Given the description of an element on the screen output the (x, y) to click on. 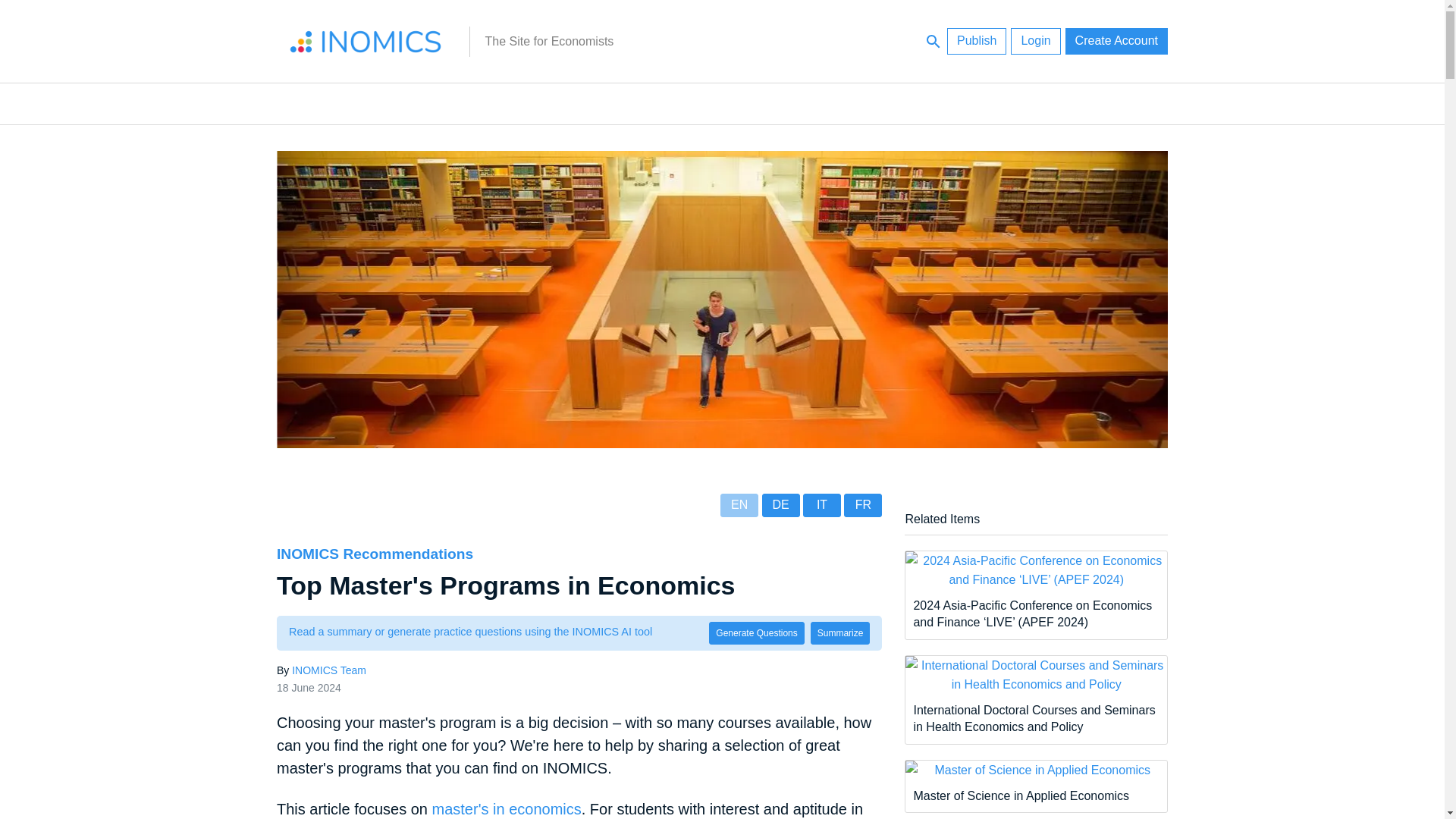
Share on LinkedIn (224, 515)
Share on Facebook (224, 611)
Home (365, 40)
Email (224, 579)
Tweet (224, 547)
